Given the description of an element on the screen output the (x, y) to click on. 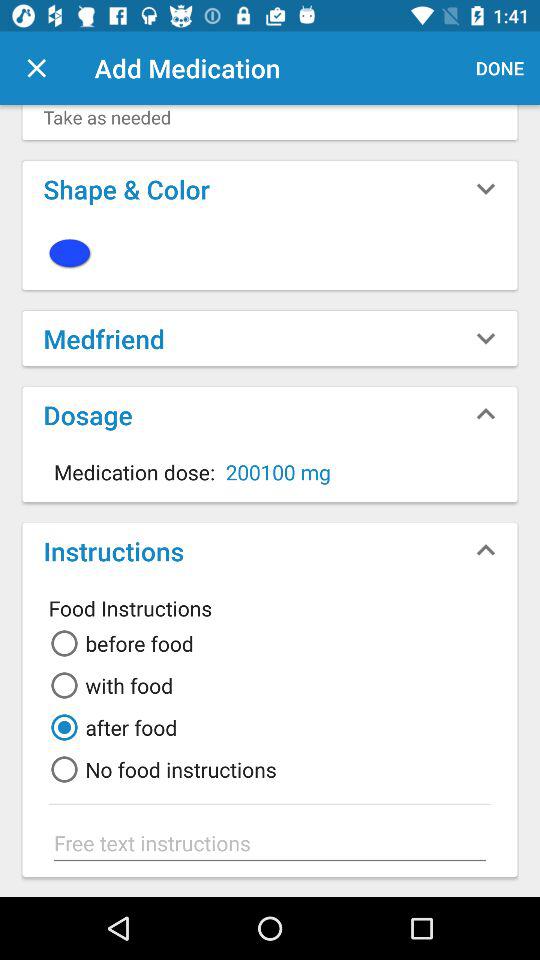
turn off icon above the take as needed icon (500, 67)
